Given the description of an element on the screen output the (x, y) to click on. 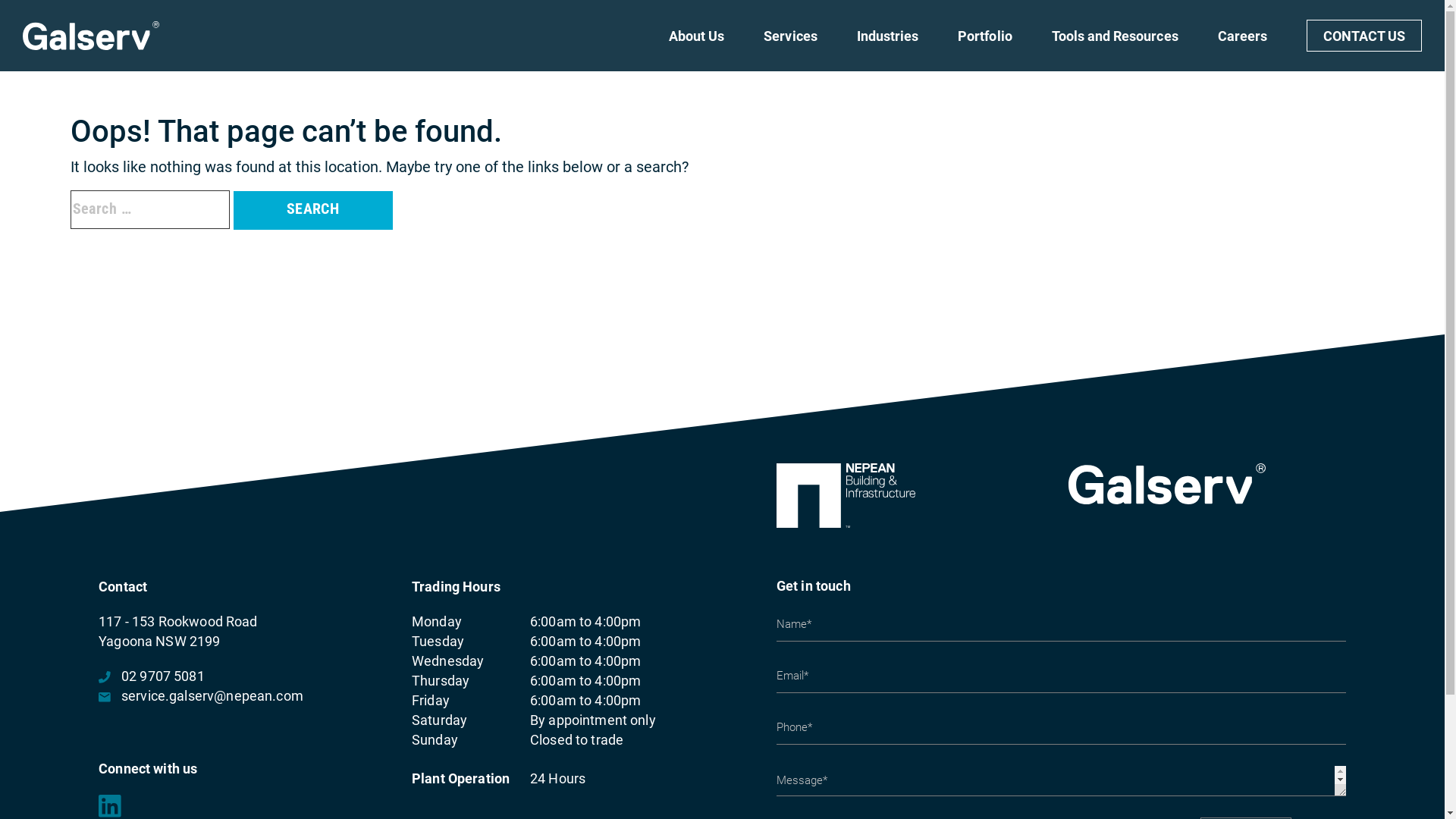
Portfolio Element type: text (984, 48)
CONTACT US Element type: text (1363, 35)
Search Element type: text (312, 210)
02 9707 5081 Element type: text (151, 676)
117 - 153 Rookwood Road
Yagoona NSW 2199 Element type: text (177, 631)
Careers Element type: text (1242, 48)
service.galserv@nepean.com Element type: text (200, 695)
Tools and Resources Element type: text (1114, 48)
Industries Element type: text (887, 48)
Services Element type: text (789, 48)
About Us Element type: text (696, 48)
